Given the description of an element on the screen output the (x, y) to click on. 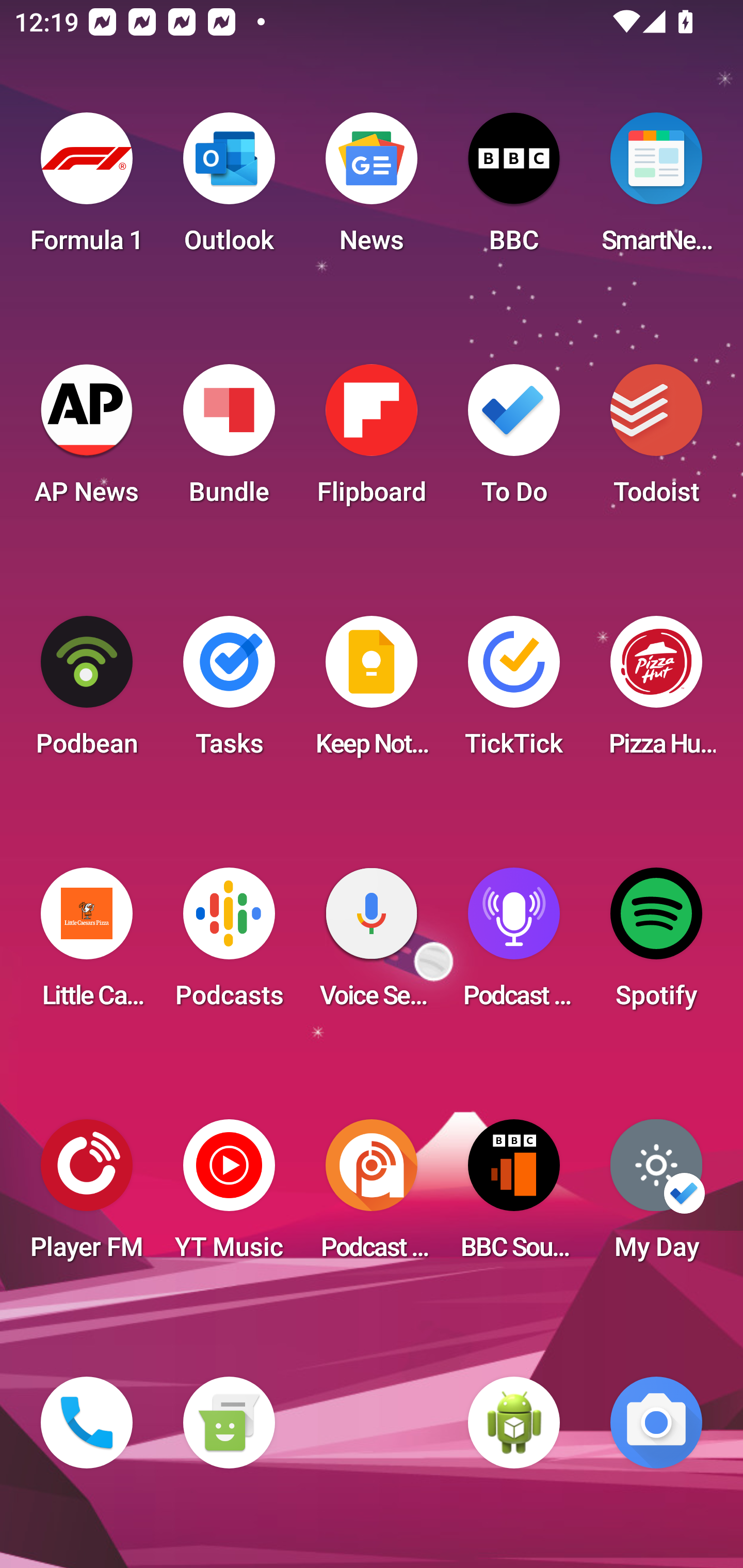
Formula 1 (86, 188)
Outlook (228, 188)
News (371, 188)
BBC (513, 188)
SmartNews (656, 188)
AP News (86, 440)
Bundle (228, 440)
Flipboard (371, 440)
To Do (513, 440)
Todoist (656, 440)
Podbean (86, 692)
Tasks (228, 692)
Keep Notes (371, 692)
TickTick (513, 692)
Pizza Hut HK & Macau (656, 692)
Little Caesars Pizza (86, 943)
Podcasts (228, 943)
Voice Search (371, 943)
Podcast Player (513, 943)
Spotify (656, 943)
Player FM (86, 1195)
YT Music (228, 1195)
Podcast Addict (371, 1195)
BBC Sounds (513, 1195)
My Day (656, 1195)
Phone (86, 1422)
Messaging (228, 1422)
WebView Browser Tester (513, 1422)
Camera (656, 1422)
